Given the description of an element on the screen output the (x, y) to click on. 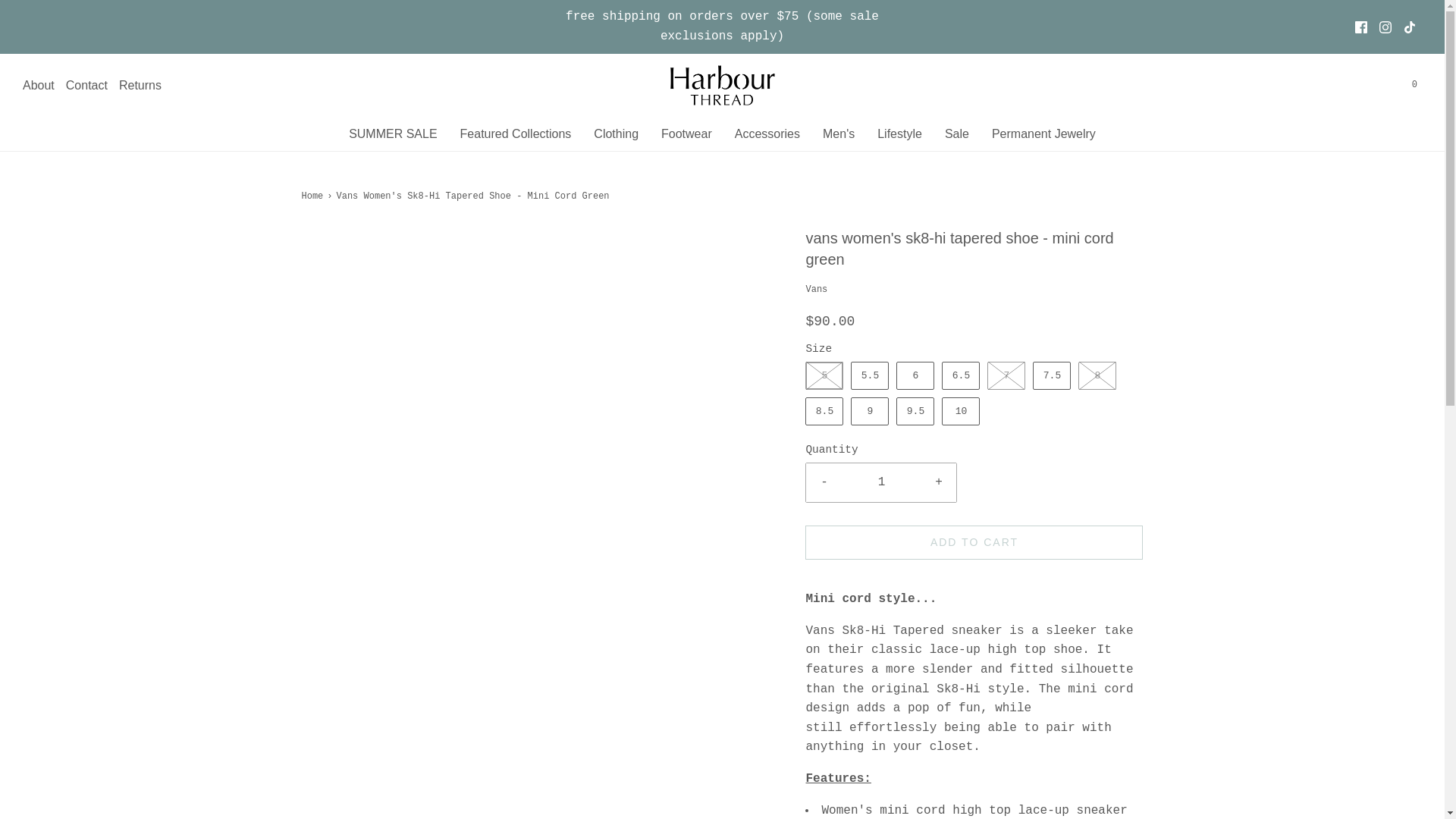
instagram icon (1385, 27)
Returns (140, 85)
facebook icon (1361, 27)
1 (881, 482)
tiktok icon (1409, 27)
Back to the frontpage (314, 196)
facebook icon (1361, 27)
About (39, 85)
instagram icon (1384, 27)
Cart (1413, 84)
Contact (86, 85)
tiktok icon (1409, 27)
